Given the description of an element on the screen output the (x, y) to click on. 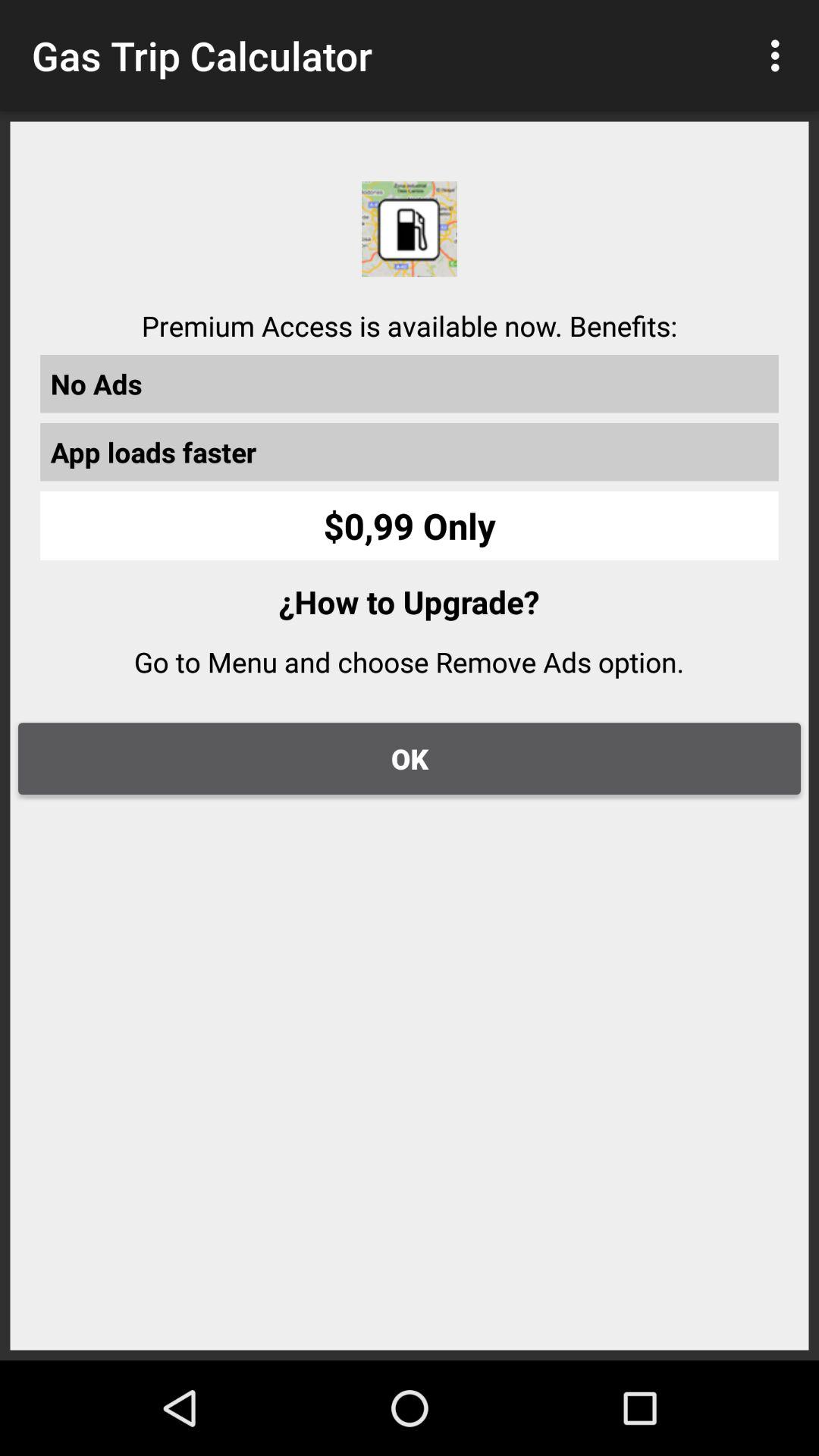
turn off item to the right of the gas trip calculator icon (779, 55)
